Given the description of an element on the screen output the (x, y) to click on. 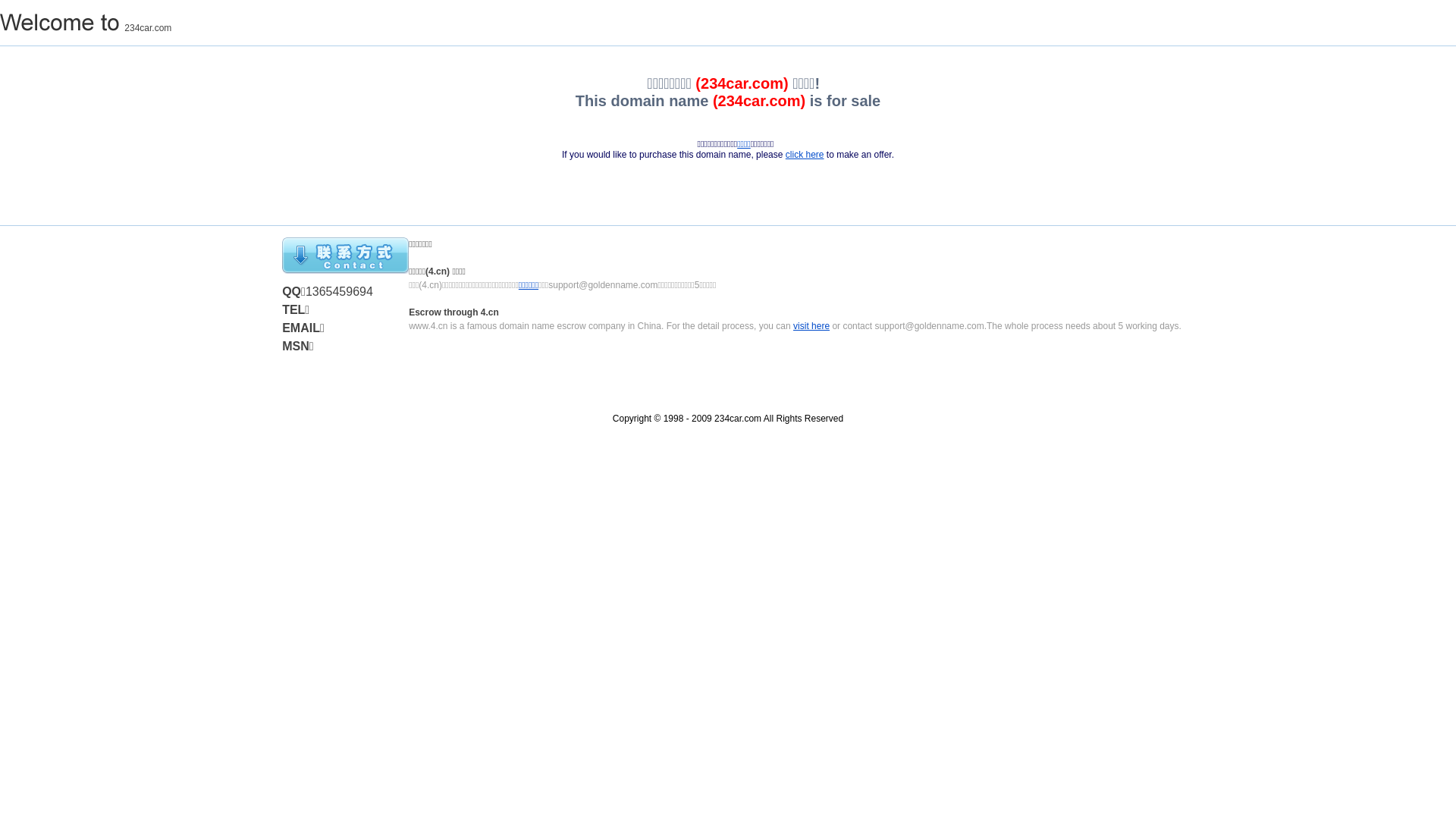
click here Element type: text (804, 154)
visit here Element type: text (811, 325)
